Given the description of an element on the screen output the (x, y) to click on. 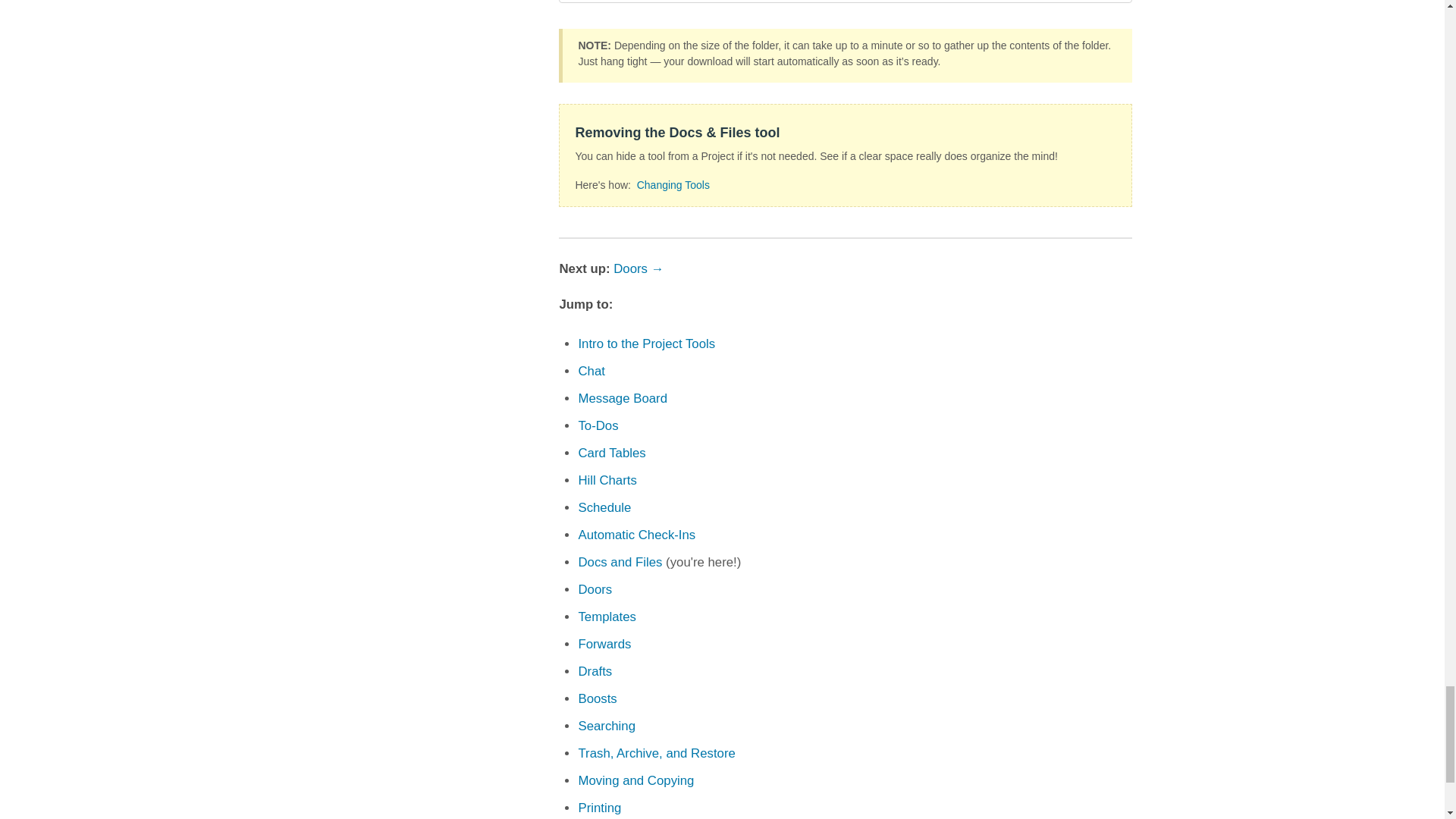
Intro to the Project Tools (646, 343)
Changing Tools (673, 184)
Chat (591, 370)
Message Board (622, 398)
